Given the description of an element on the screen output the (x, y) to click on. 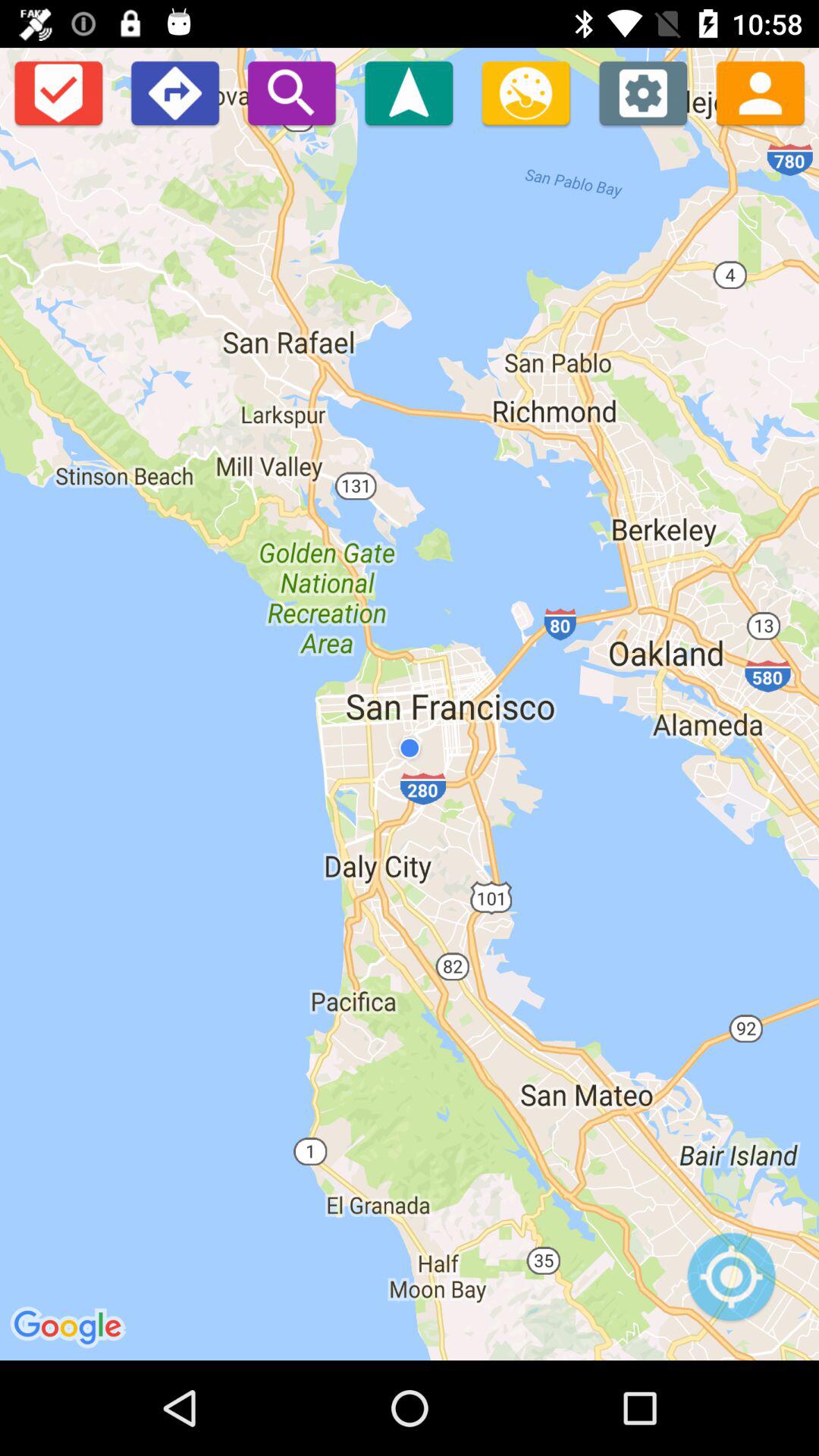
directions to location (408, 92)
